Given the description of an element on the screen output the (x, y) to click on. 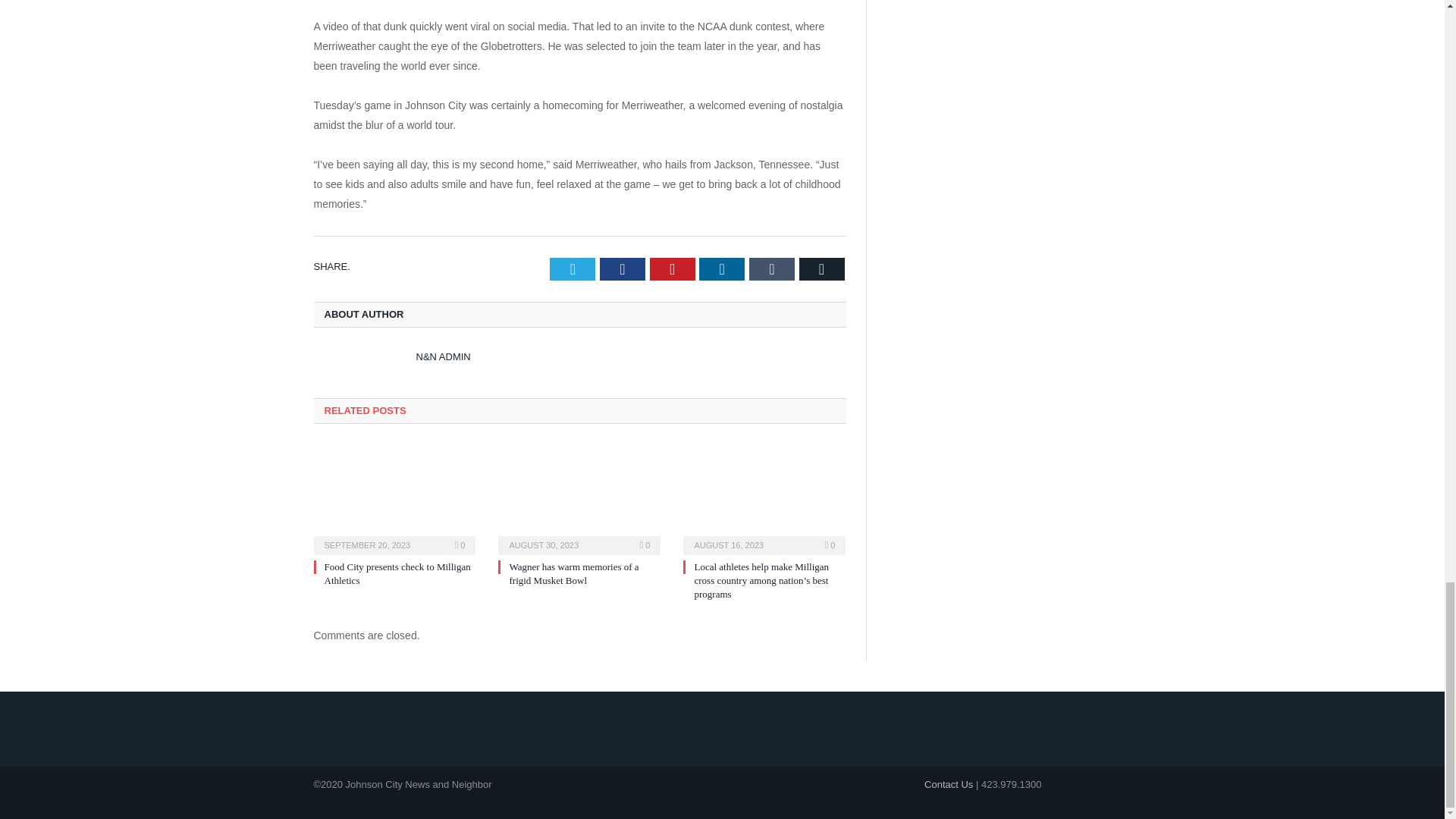
Wagner has warm memories of a frigid Musket Bowl (573, 573)
Facebook (622, 268)
Email (821, 268)
Twitter (572, 268)
LinkedIn (721, 268)
Pinterest (672, 268)
Wagner has warm memories of a frigid Musket Bowl (579, 498)
Food City presents check to Milligan Athletics (397, 573)
Tumblr (771, 268)
Food City presents check to Milligan Athletics (395, 498)
